Given the description of an element on the screen output the (x, y) to click on. 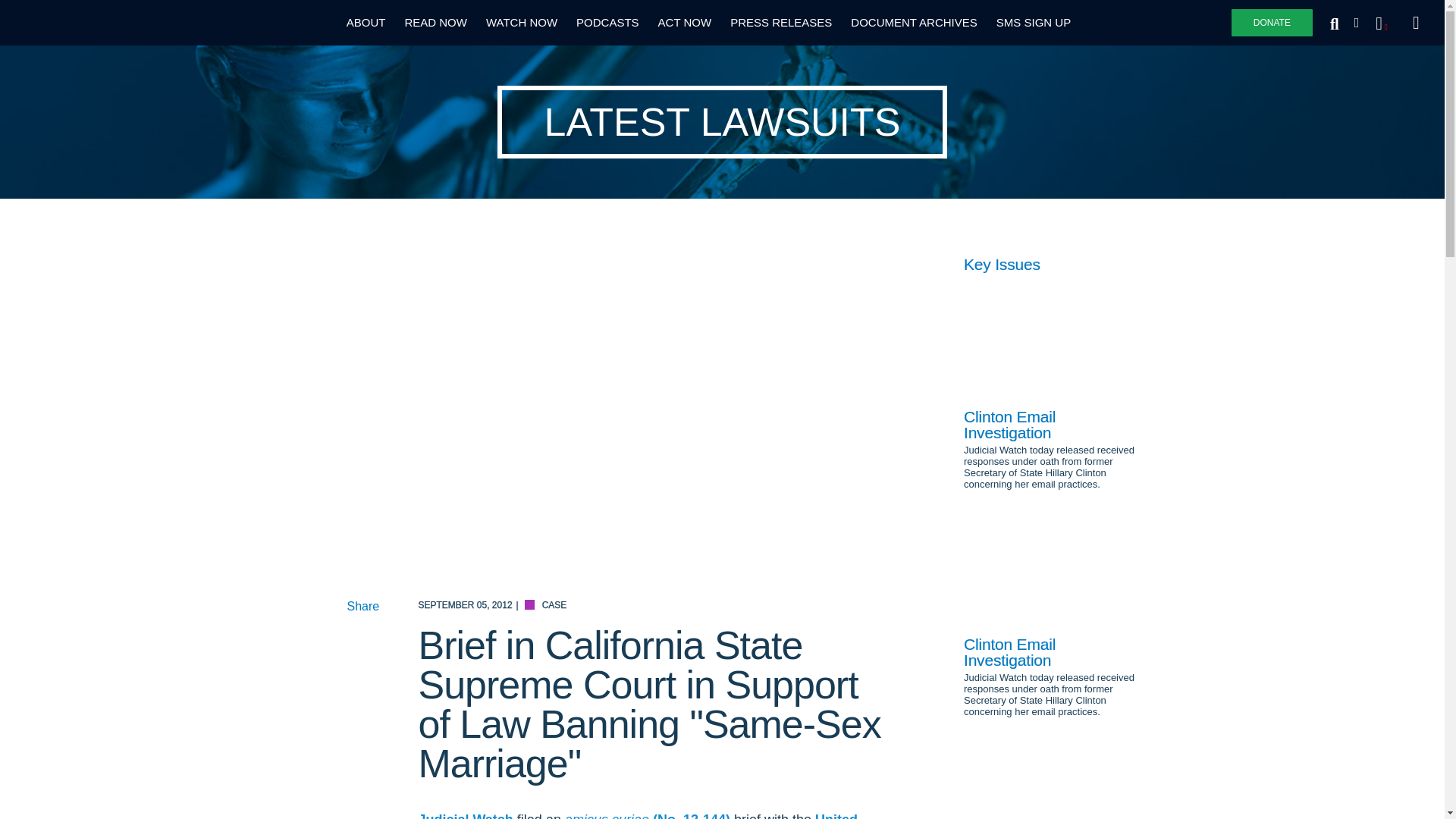
Judicial Watch Homepage (90, 22)
